Given the description of an element on the screen output the (x, y) to click on. 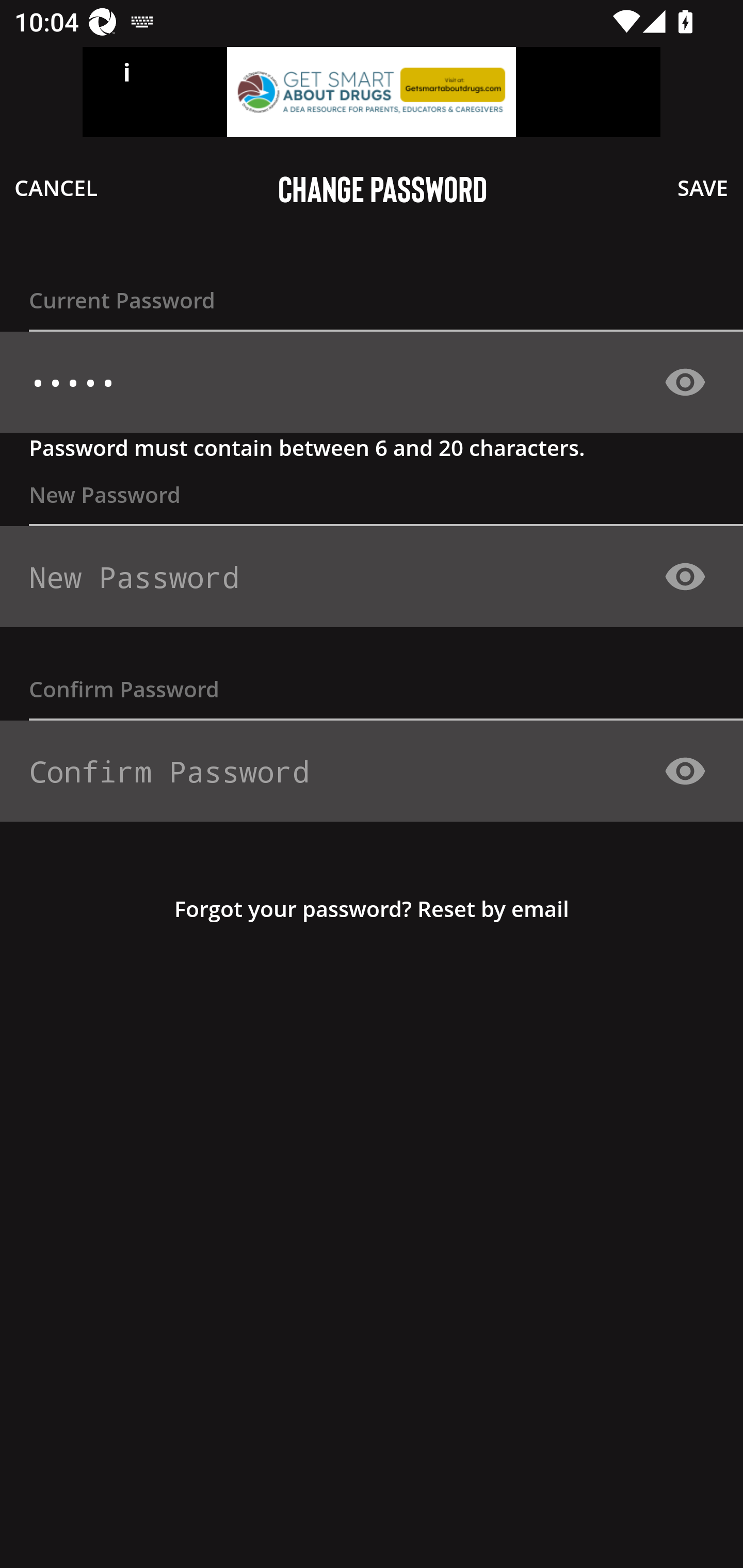
CANCEL (55, 186)
SAVE (702, 186)
Blues (364, 382)
Show password (684, 381)
New Password (364, 576)
Show password (684, 576)
Confirm Password (364, 771)
Show password (684, 770)
Forgot your password? Reset by email (371, 908)
